Given the description of an element on the screen output the (x, y) to click on. 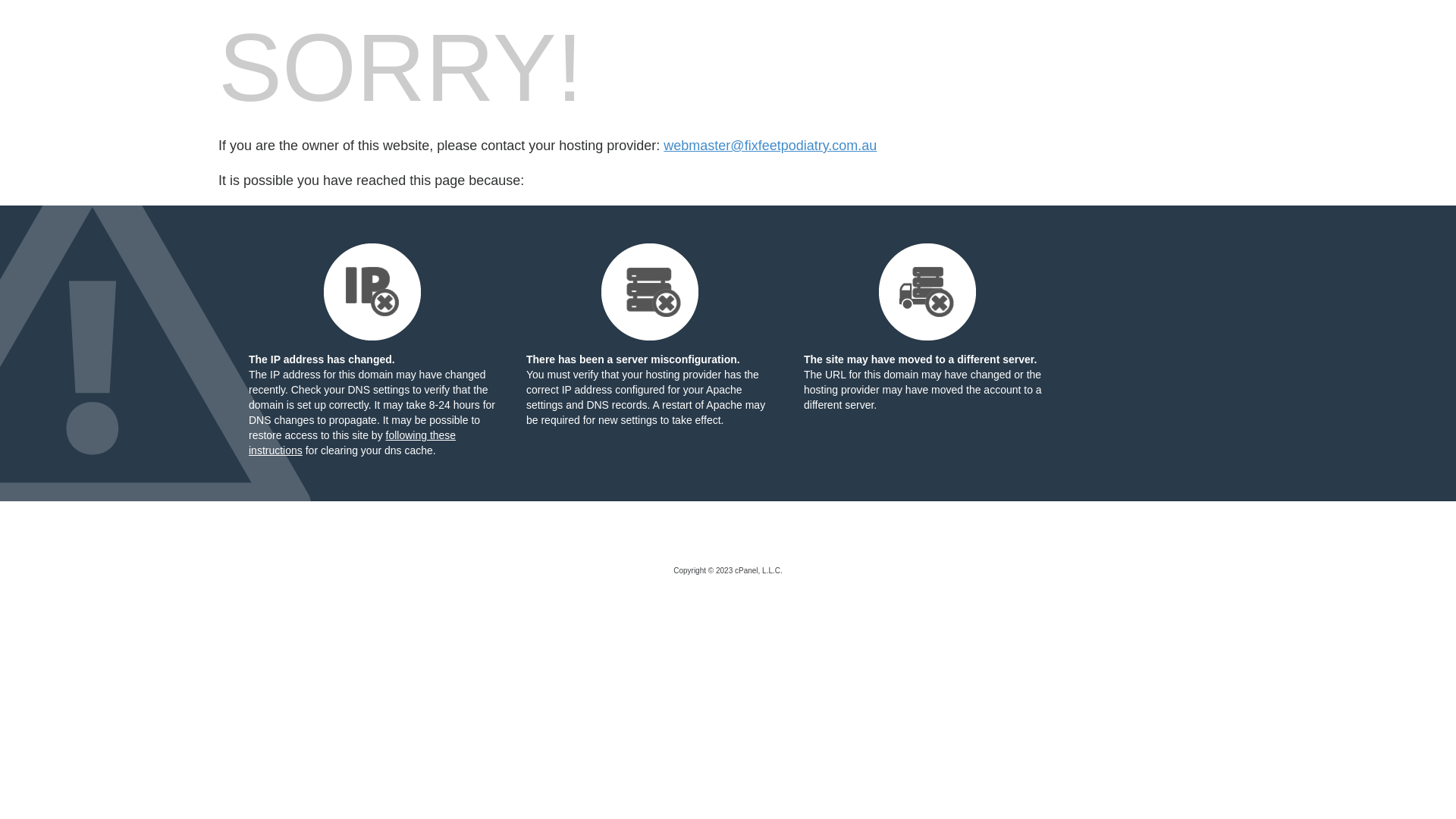
webmaster@fixfeetpodiatry.com.au Element type: text (769, 145)
following these instructions Element type: text (351, 442)
